Given the description of an element on the screen output the (x, y) to click on. 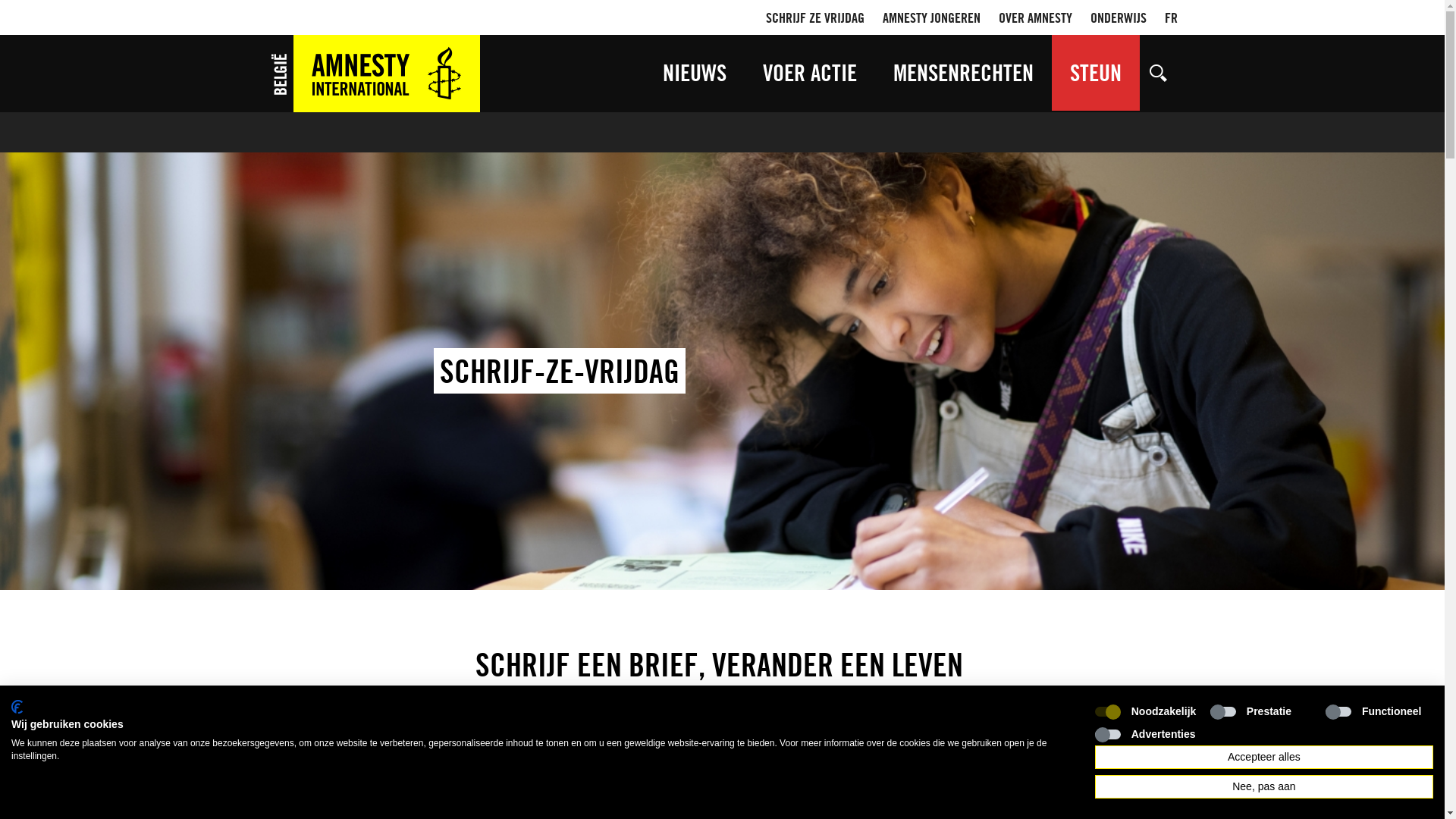
AMNESTY JONGEREN Element type: text (931, 17)
STEUN Element type: text (1095, 72)
NIEUWS Element type: text (694, 72)
MENSENRECHTEN Element type: text (963, 72)
Accepteer alles Element type: text (1264, 756)
HOME Element type: text (372, 73)
ZOEKEN Element type: text (1157, 72)
Nee, pas aan Element type: text (1264, 786)
VOER ACTIE Element type: text (809, 72)
FR Element type: text (1170, 17)
OVER AMNESTY Element type: text (1034, 17)
ONDERWIJS Element type: text (1118, 17)
Jump to navigation Element type: text (722, 18)
SCHRIJF ZE VRIJDAG Element type: text (814, 17)
